Given the description of an element on the screen output the (x, y) to click on. 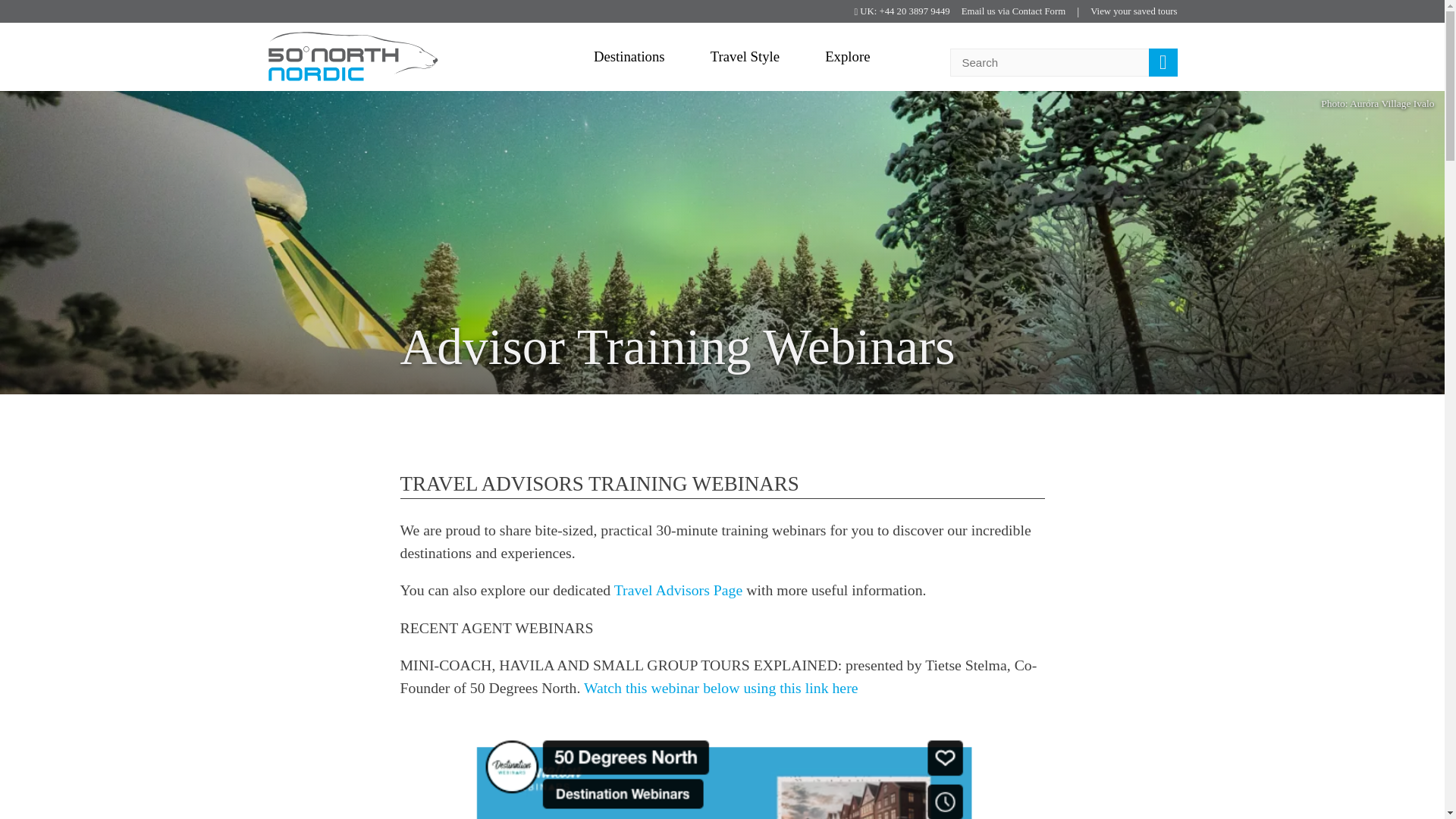
Fifty Degrees North (352, 56)
Travel Style (745, 56)
Destinations (629, 56)
Email us via Contact Form (1012, 11)
View your saved tours (1133, 11)
